Given the description of an element on the screen output the (x, y) to click on. 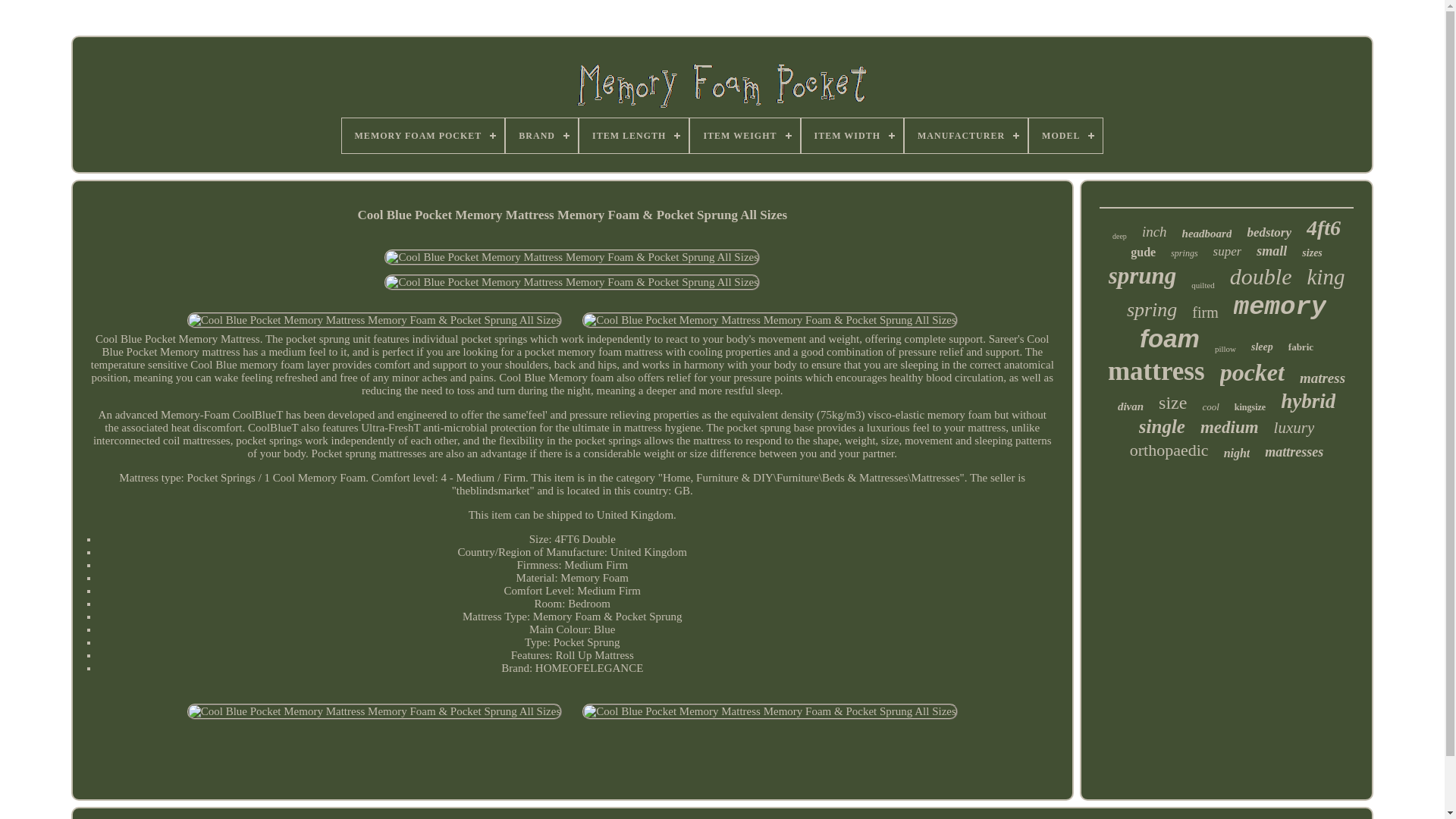
MEMORY FOAM POCKET (423, 135)
ITEM LENGTH (633, 135)
BRAND (541, 135)
